Given the description of an element on the screen output the (x, y) to click on. 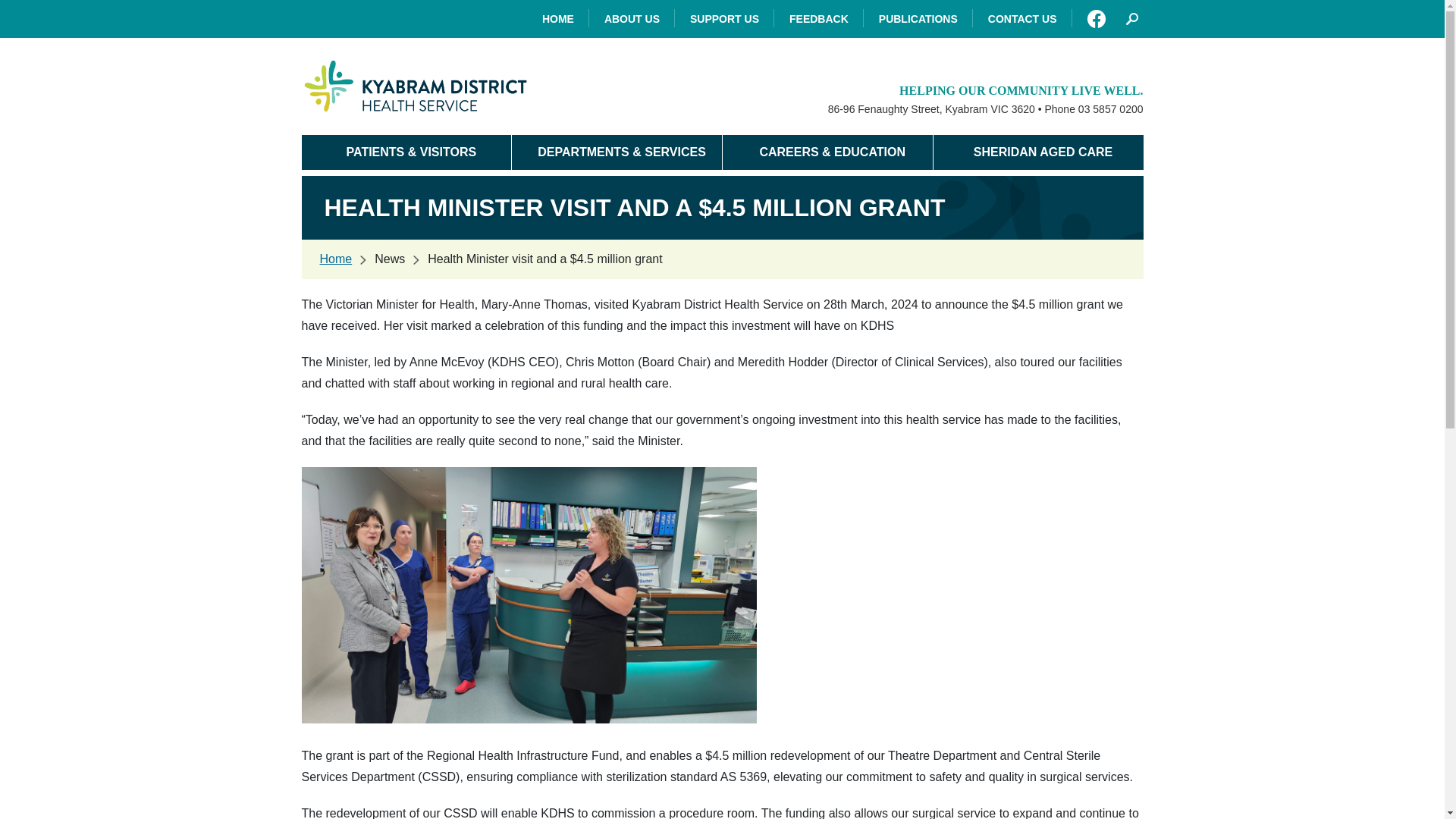
Home (336, 258)
Go to the News category archives. (389, 258)
News (389, 258)
SHERIDAN AGED CARE (1037, 152)
PUBLICATIONS (917, 18)
HOME (558, 18)
ABOUT US (632, 18)
SUPPORT US (724, 18)
03 5857 0200 (1110, 109)
FEEDBACK (818, 18)
Sheridan Aged Care (1037, 152)
CONTACT US (1021, 18)
Go to Kyabram District Health Service. (336, 258)
